Given the description of an element on the screen output the (x, y) to click on. 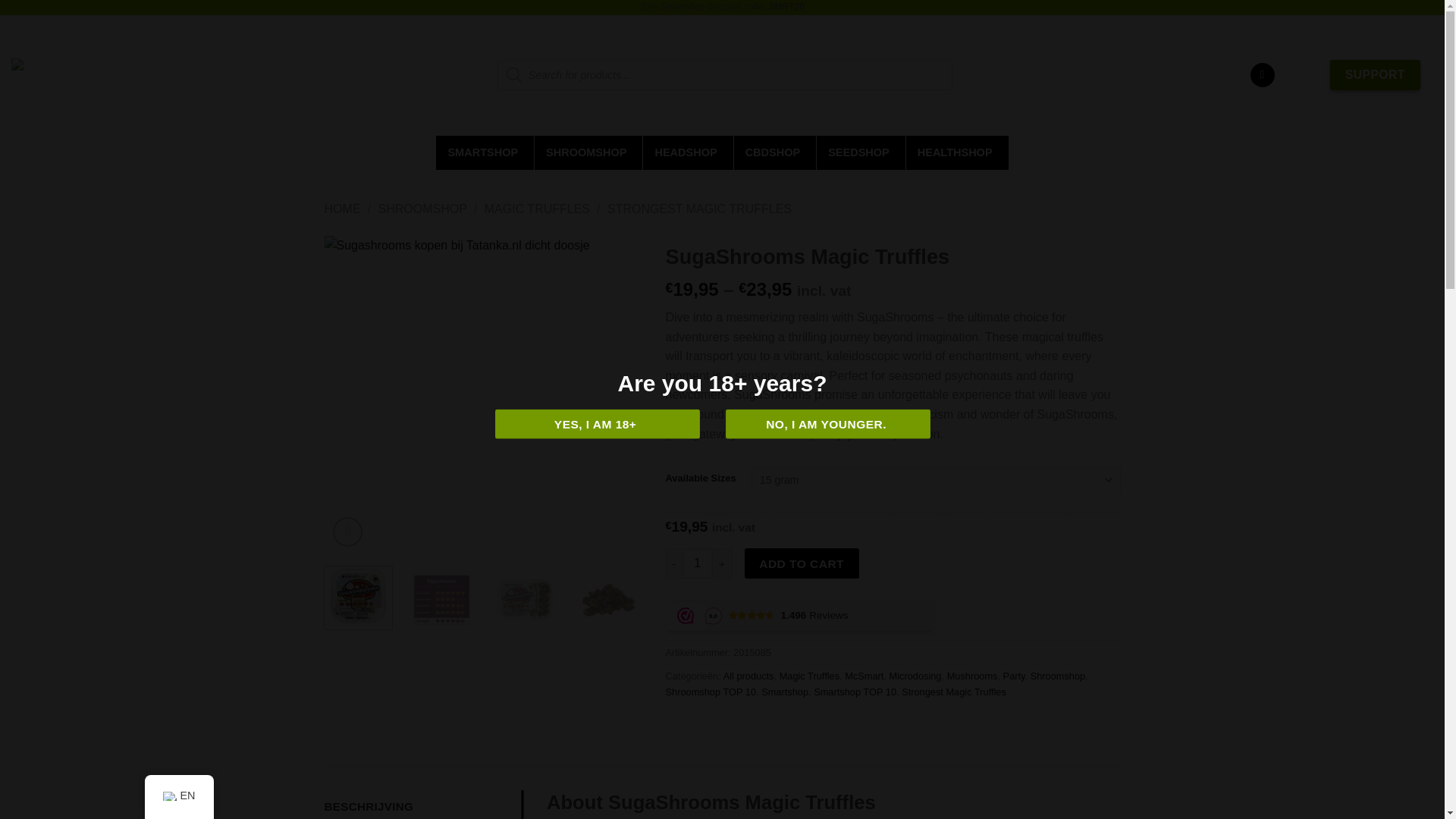
SugaShrooms Magic Truffles - Tatanka.nl (801, 393)
Zoom (347, 531)
SugaShrooms Magic Truffles - Tatanka.nl (524, 596)
1 (697, 562)
SUPPORT (1374, 74)
No, I am younger.  (827, 423)
SugaShrooms Magic Truffles - Tatanka.nl (440, 596)
Login (1262, 75)
SugaShrooms Magic Truffles - Tatanka.nl (1119, 393)
SugaShrooms Magic Truffles - Tatanka.nl (483, 393)
